Given the description of an element on the screen output the (x, y) to click on. 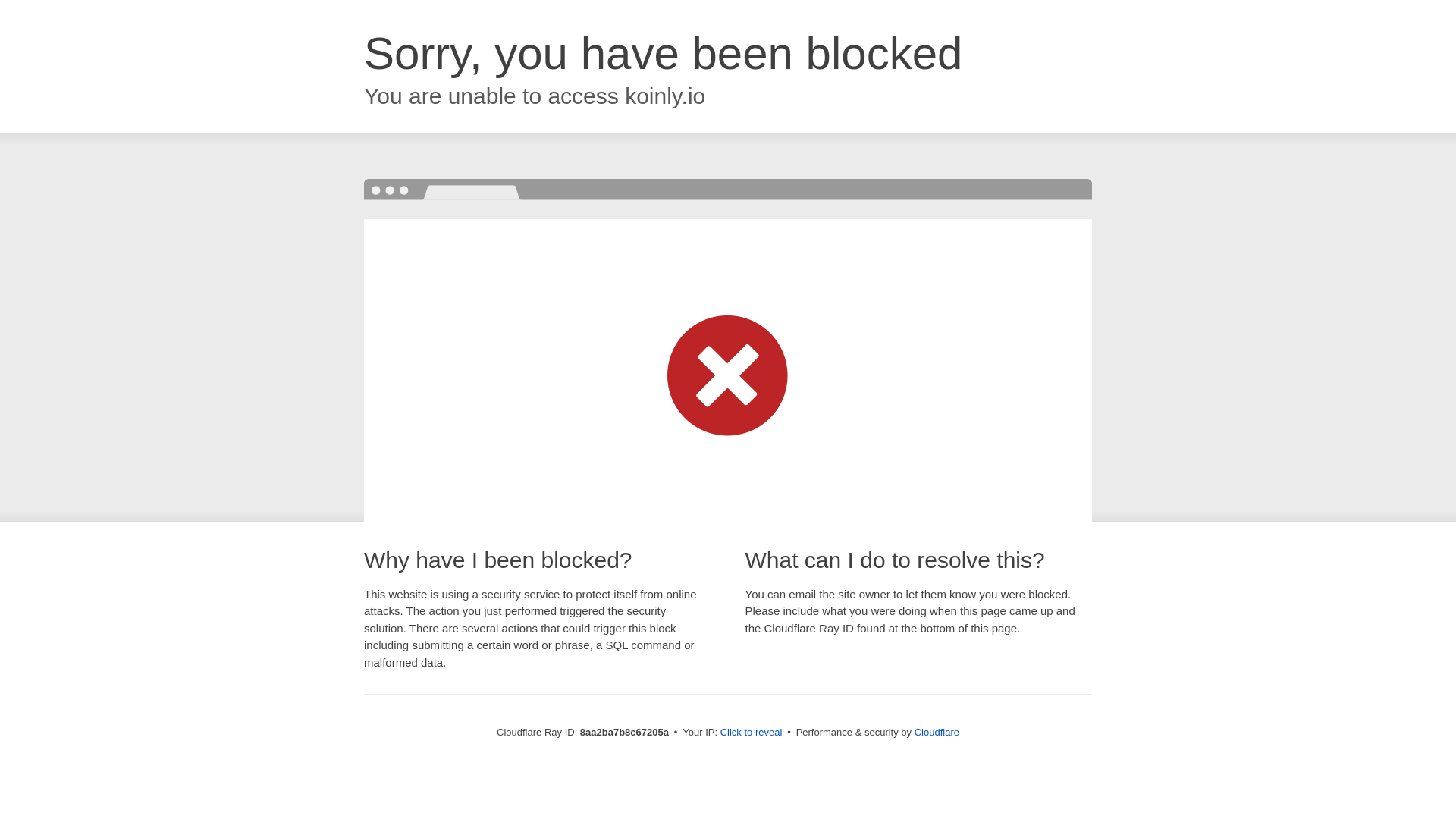
Click to reveal (751, 732)
Cloudflare (936, 731)
